Given the description of an element on the screen output the (x, y) to click on. 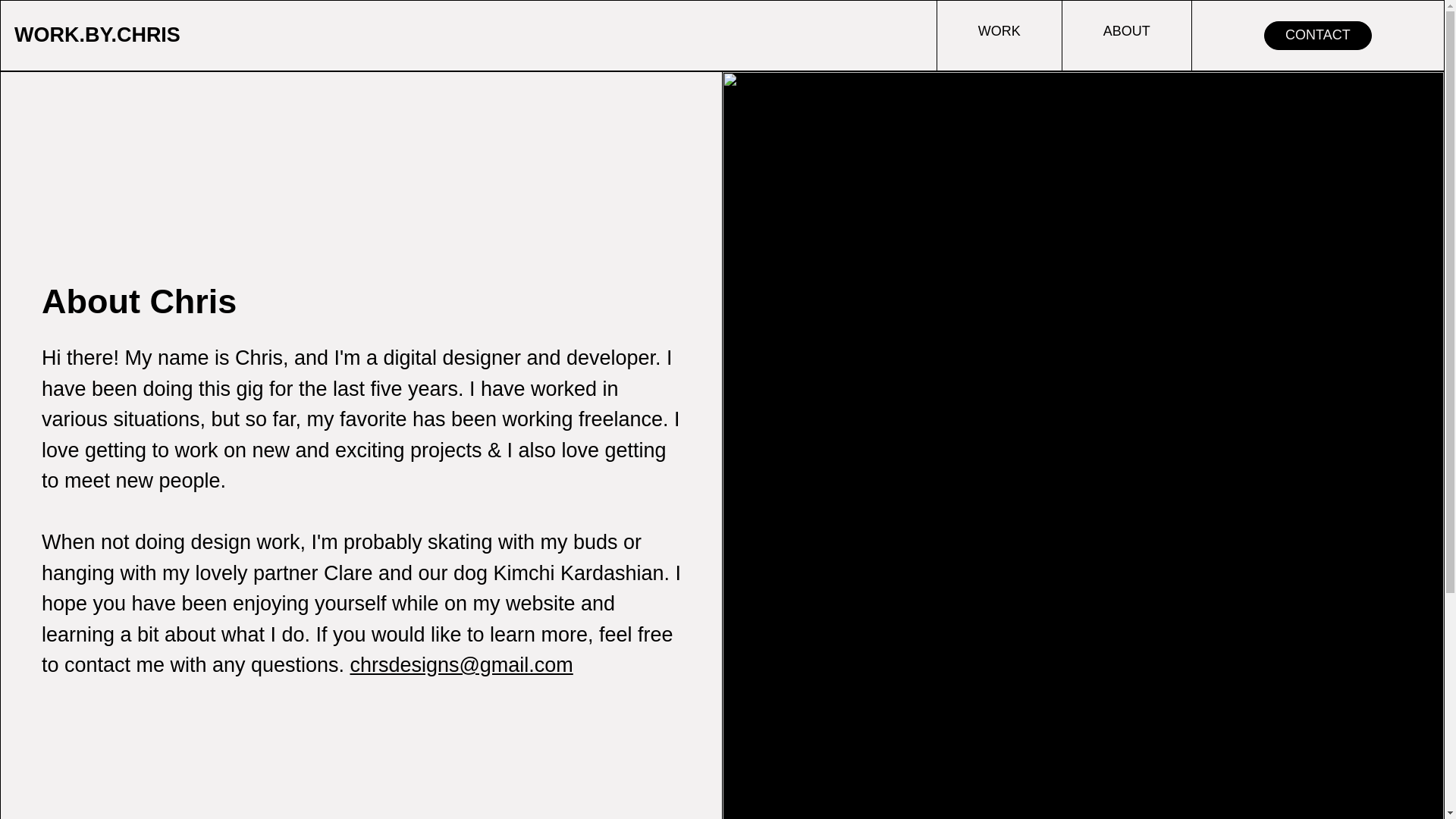
CONTACT (1317, 35)
WORK.BY.CHRIS (97, 35)
WORK (999, 35)
ABOUT (1127, 35)
